Given the description of an element on the screen output the (x, y) to click on. 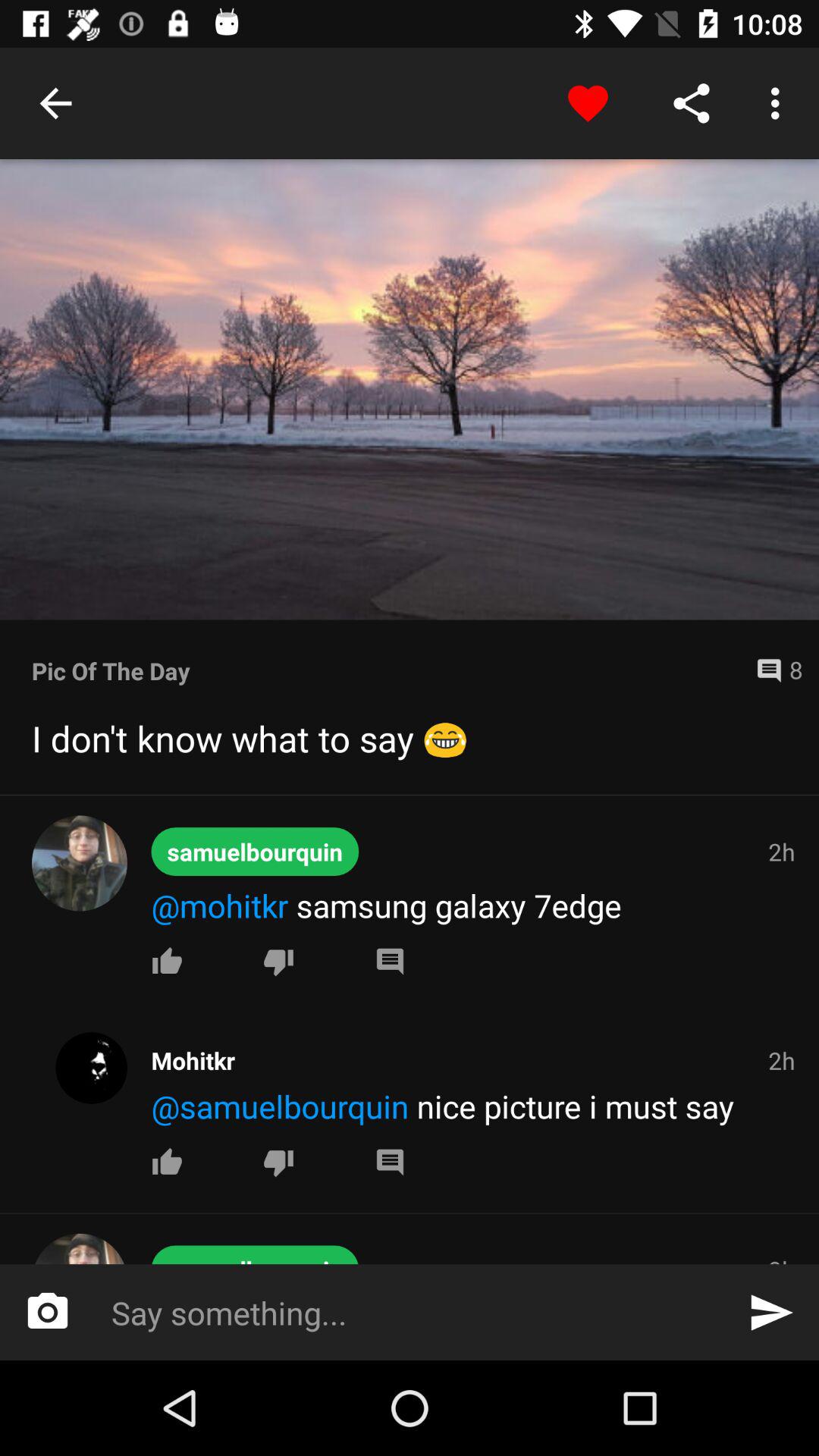
click the 8 (773, 670)
